Given the description of an element on the screen output the (x, y) to click on. 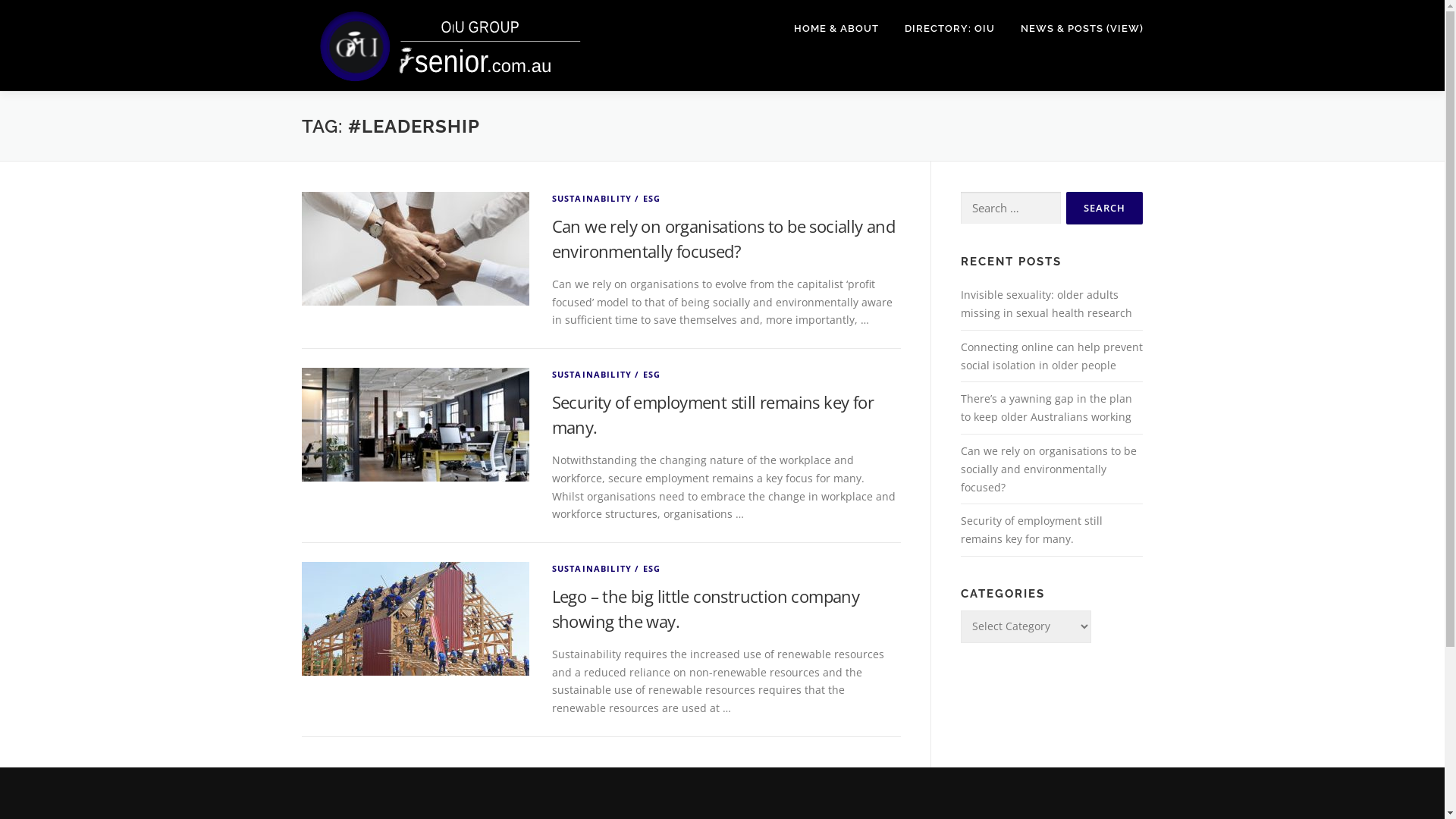
Search Element type: text (1104, 207)
Security of employment still remains key for many. Element type: text (1030, 529)
SUSTAINABILITY / ESG Element type: text (606, 197)
Security of employment still remains key for many. Element type: text (713, 414)
NEWS & POSTS (VIEW) Element type: text (1074, 28)
SUSTAINABILITY / ESG Element type: text (606, 373)
SUSTAINABILITY / ESG Element type: text (606, 568)
DIRECTORY: OIU Element type: text (949, 28)
HOME & ABOUT Element type: text (836, 28)
